Given the description of an element on the screen output the (x, y) to click on. 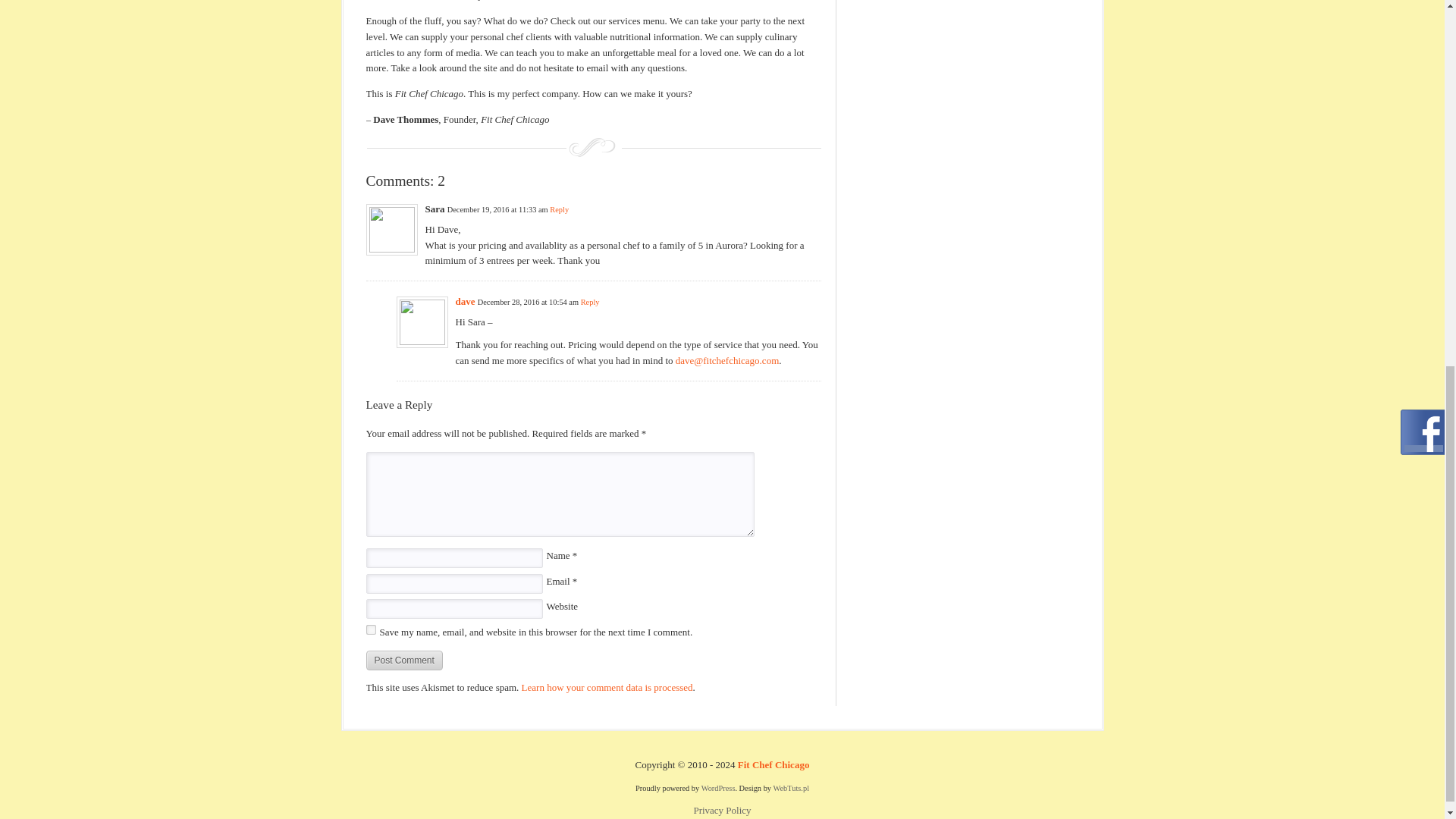
Fit Chef Chicago (773, 764)
Privacy Policy (722, 809)
WebTuts.pl (791, 787)
Reply (589, 302)
WebTuts.pl (791, 787)
WordPress (718, 787)
yes (370, 629)
Learn how your comment data is processed (607, 686)
Post Comment (403, 660)
dave (464, 301)
Reply (559, 209)
Post Comment (403, 660)
